Given the description of an element on the screen output the (x, y) to click on. 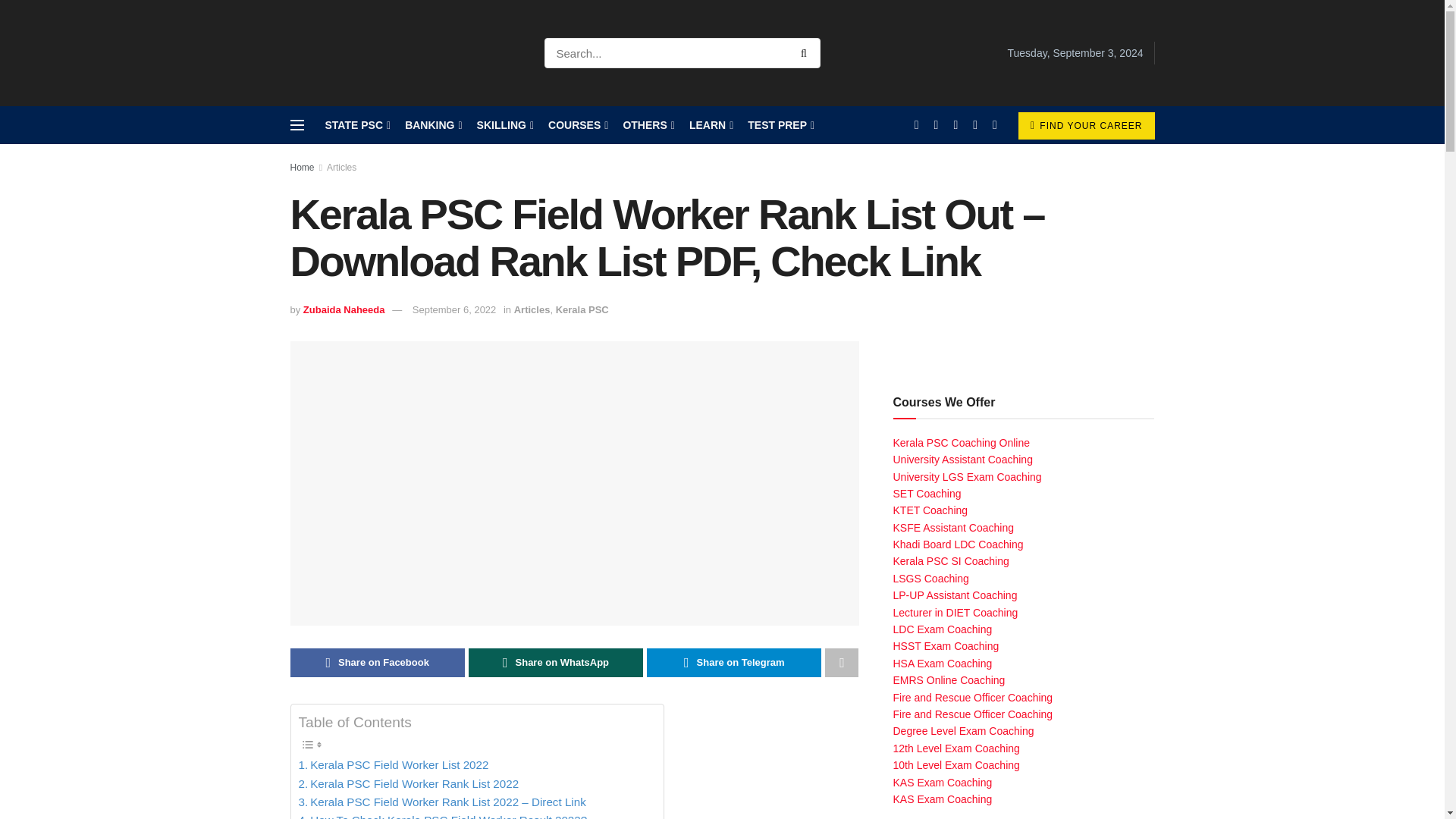
Kerala PSC Field Worker List 2022 (393, 764)
STATE PSC (356, 125)
BANKING (432, 125)
Kerala PSC Field Worker Rank List 2022 (408, 783)
